Given the description of an element on the screen output the (x, y) to click on. 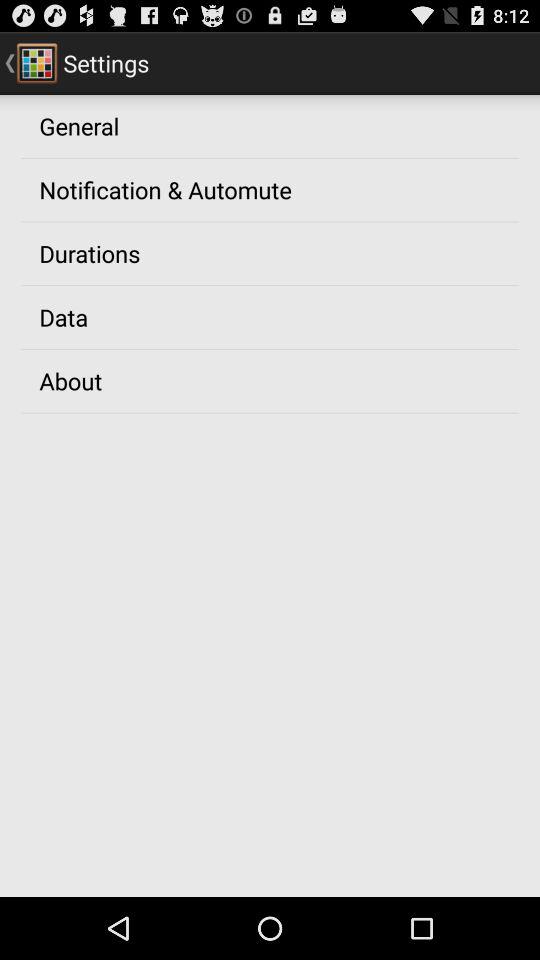
launch the item above the data icon (89, 253)
